Given the description of an element on the screen output the (x, y) to click on. 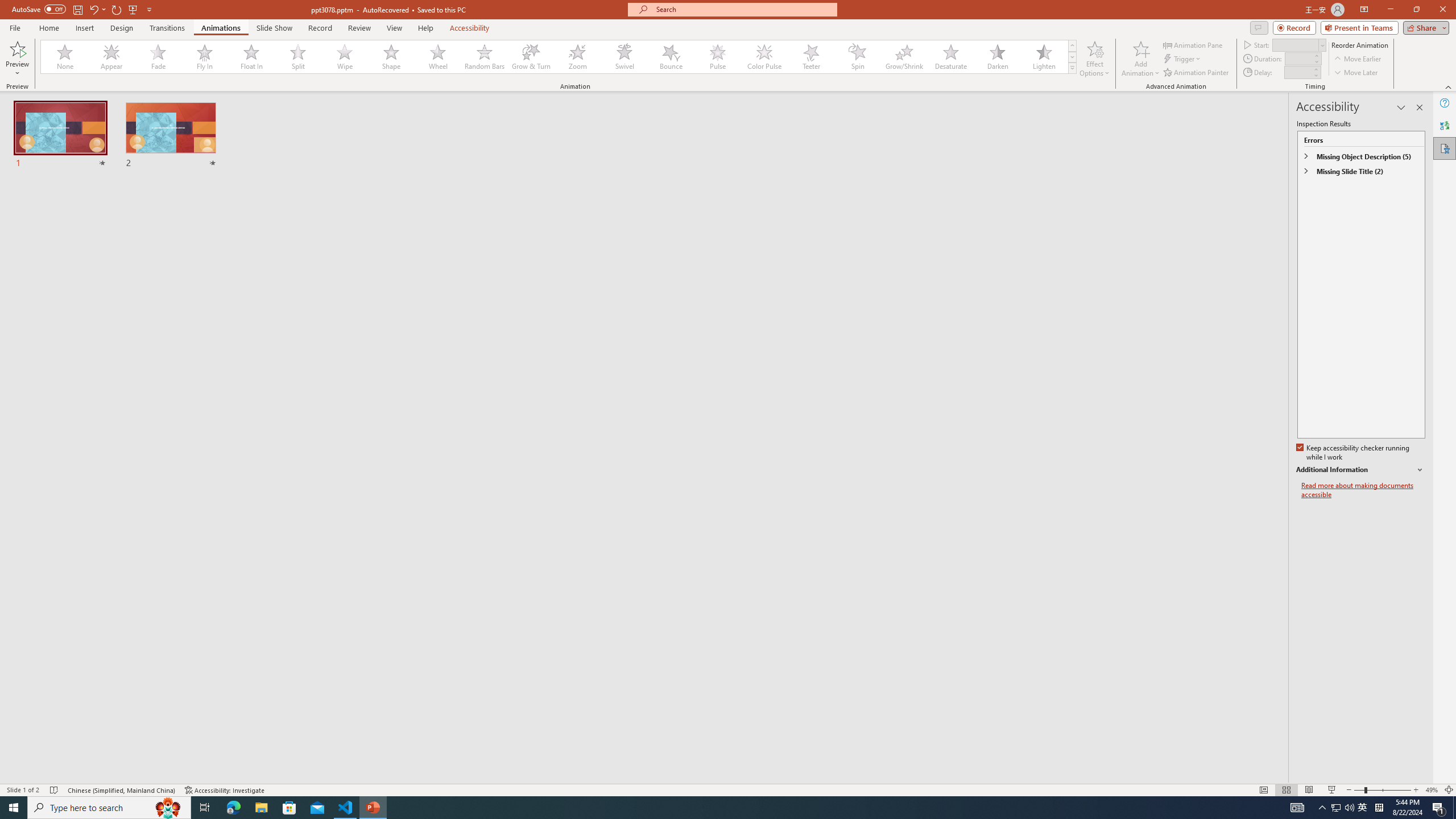
Zoom 49% (1431, 790)
Wheel (437, 56)
Fade (158, 56)
Animation Delay (1297, 72)
Less (1315, 75)
Trigger (1182, 58)
